Given the description of an element on the screen output the (x, y) to click on. 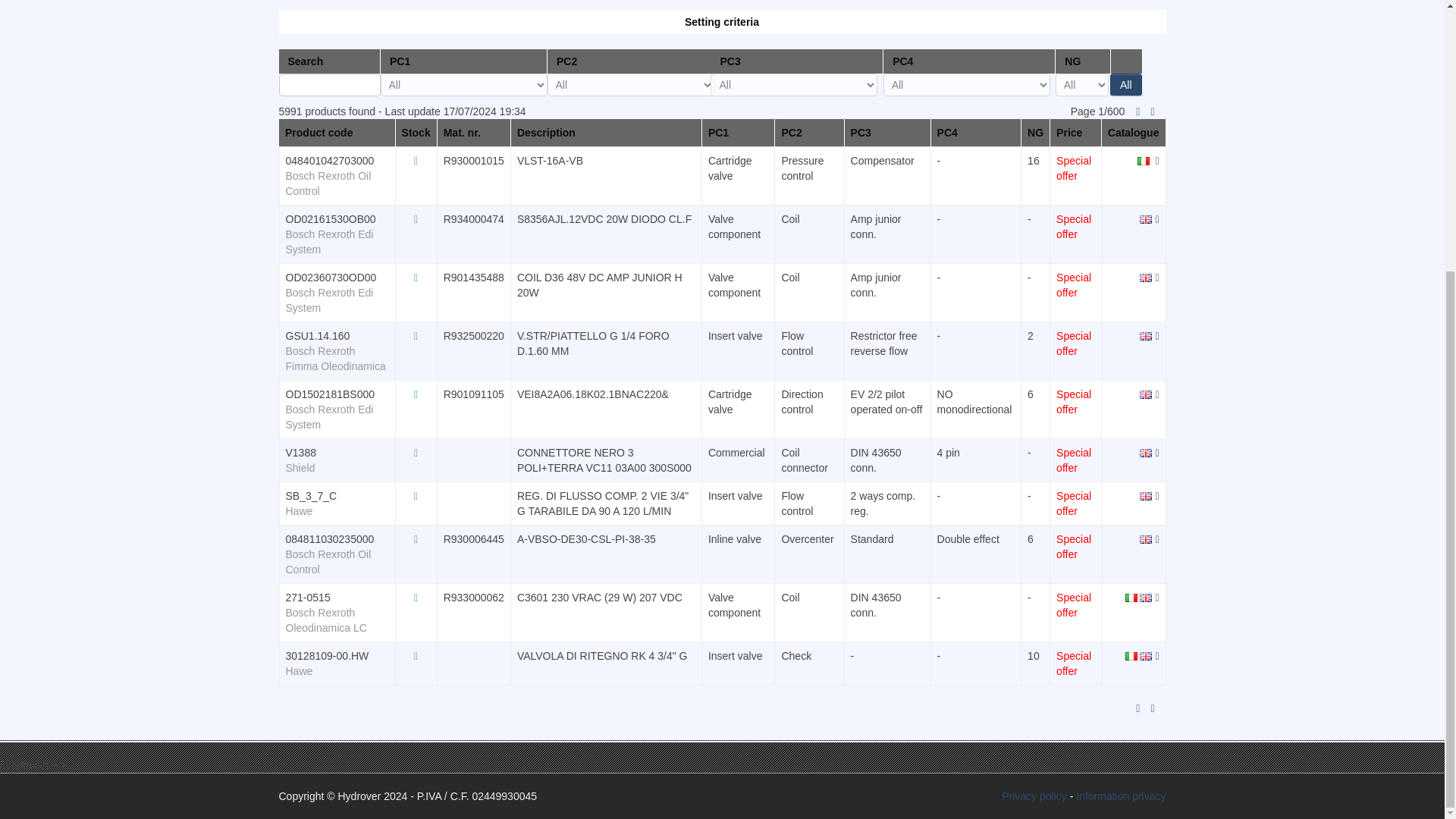
Download pdf (1145, 276)
Send an offer request (1156, 539)
Download pdf (1145, 494)
Download pdf (1145, 218)
All (1125, 84)
Send an offer request (1156, 393)
Send an offer request (1156, 494)
Send an offer request (1156, 452)
Send an offer request (1156, 218)
Send an offer request (1156, 276)
Send an offer request (1156, 159)
Send an offer request (1156, 336)
Download pdf (1145, 539)
Download pdf (1143, 159)
Download pdf (1145, 336)
